Given the description of an element on the screen output the (x, y) to click on. 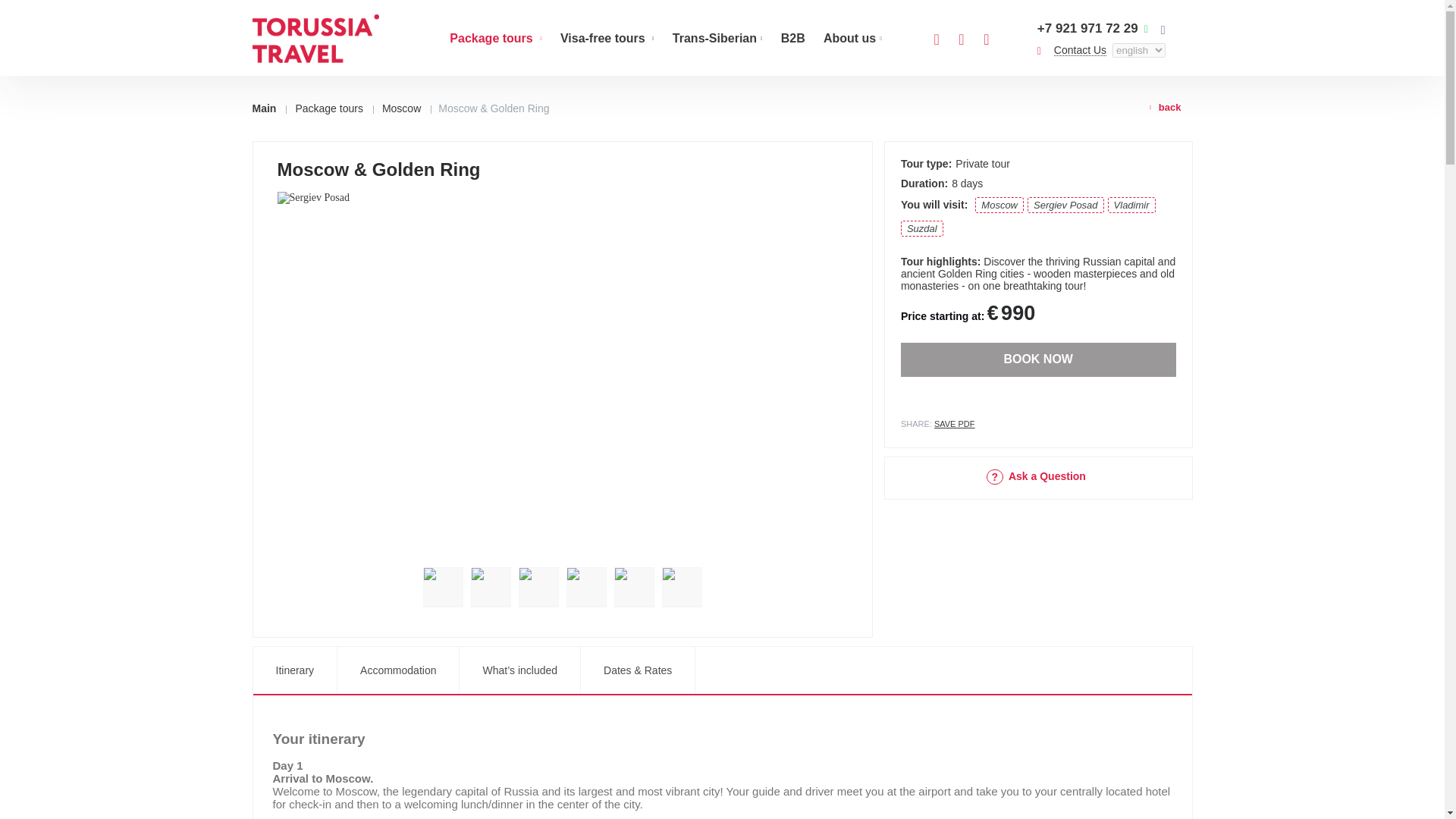
Vladimir (1132, 204)
Suzdal (922, 228)
Package tours (328, 107)
Sergiev Posad (1065, 204)
Trans-Siberian (717, 38)
BOOK NOW (1038, 359)
Main (268, 107)
Contact Us (1080, 50)
B2B (792, 38)
About us (853, 38)
Package tours (495, 38)
Moscow (401, 107)
Visa-free tours (606, 38)
Ask a Question (1036, 476)
